Given the description of an element on the screen output the (x, y) to click on. 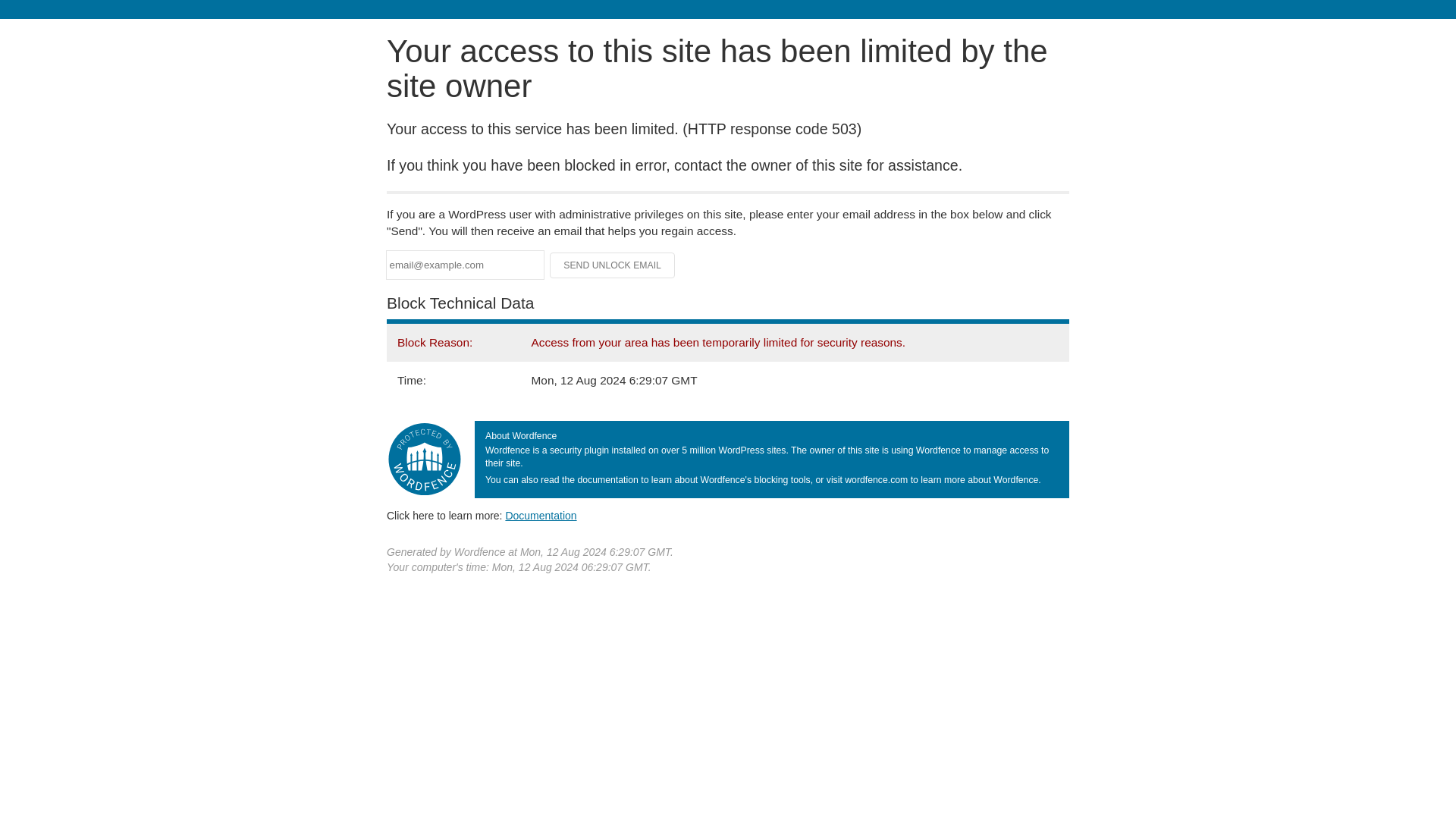
Send Unlock Email (612, 265)
Documentation (540, 515)
Send Unlock Email (612, 265)
